Given the description of an element on the screen output the (x, y) to click on. 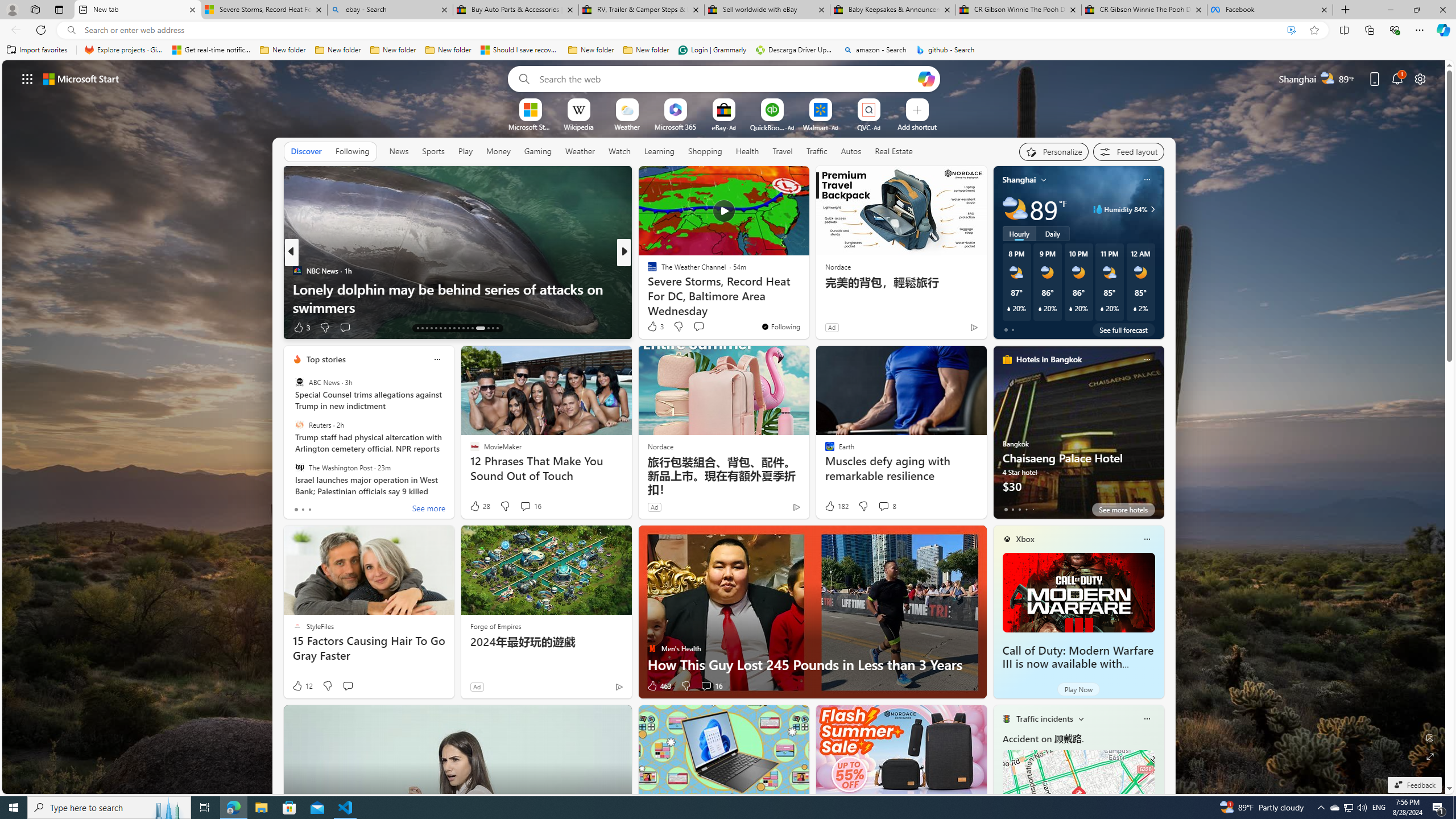
AutomationID: tab-18 (440, 328)
AutomationID: tab-21 (454, 328)
AutomationID: backgroundImagePicture (723, 426)
AutomationID: tab-25 (472, 328)
Weather (579, 151)
AutomationID: tab-24 (467, 328)
Shanghai (1018, 179)
Xbox (1025, 538)
To get missing image descriptions, open the context menu. (529, 109)
116 Like (654, 327)
